Given the description of an element on the screen output the (x, y) to click on. 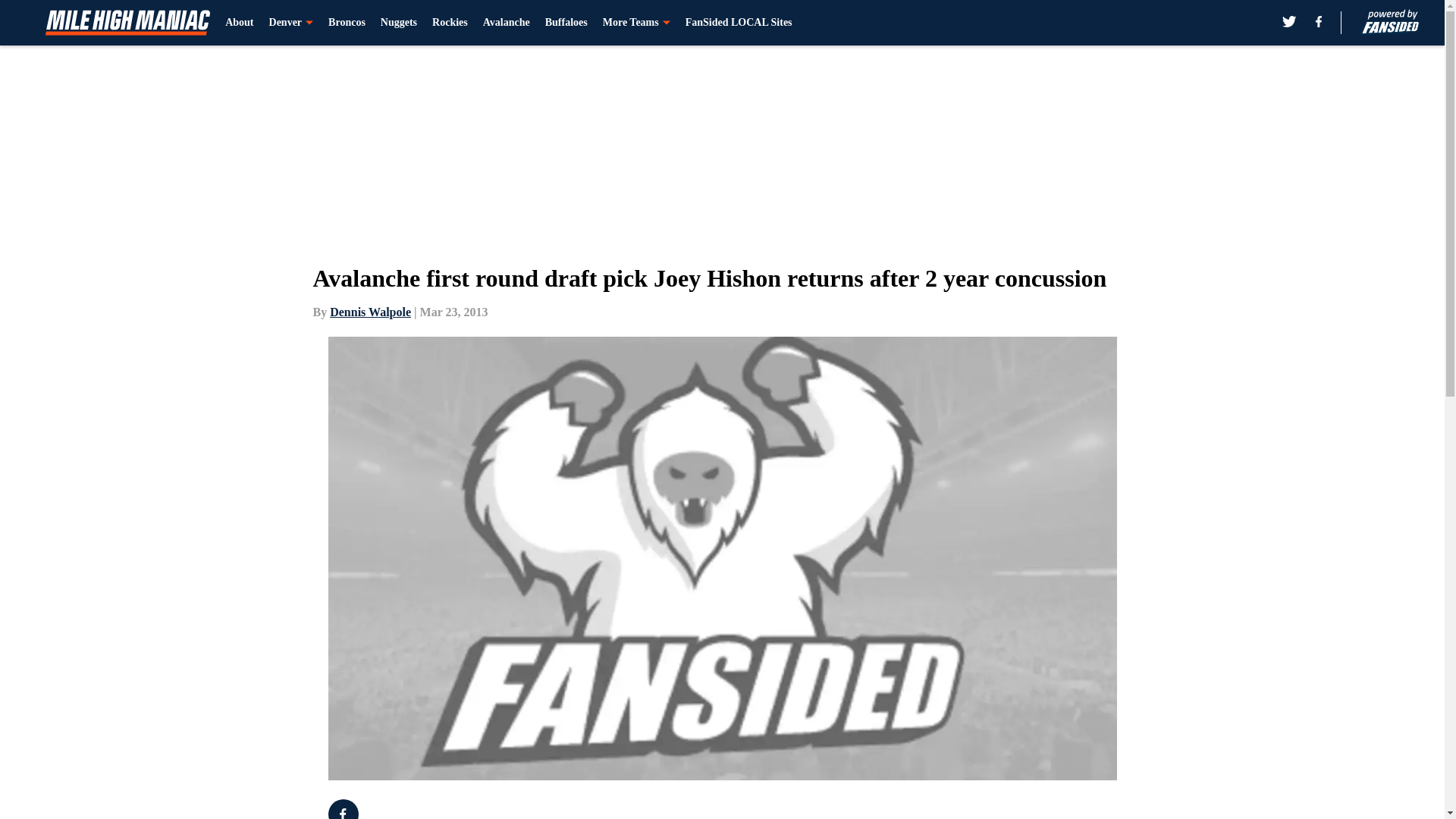
Broncos (347, 22)
Nuggets (398, 22)
FanSided LOCAL Sites (738, 22)
Avalanche (506, 22)
About (239, 22)
Buffaloes (566, 22)
Dennis Walpole (370, 311)
Rockies (449, 22)
